Given the description of an element on the screen output the (x, y) to click on. 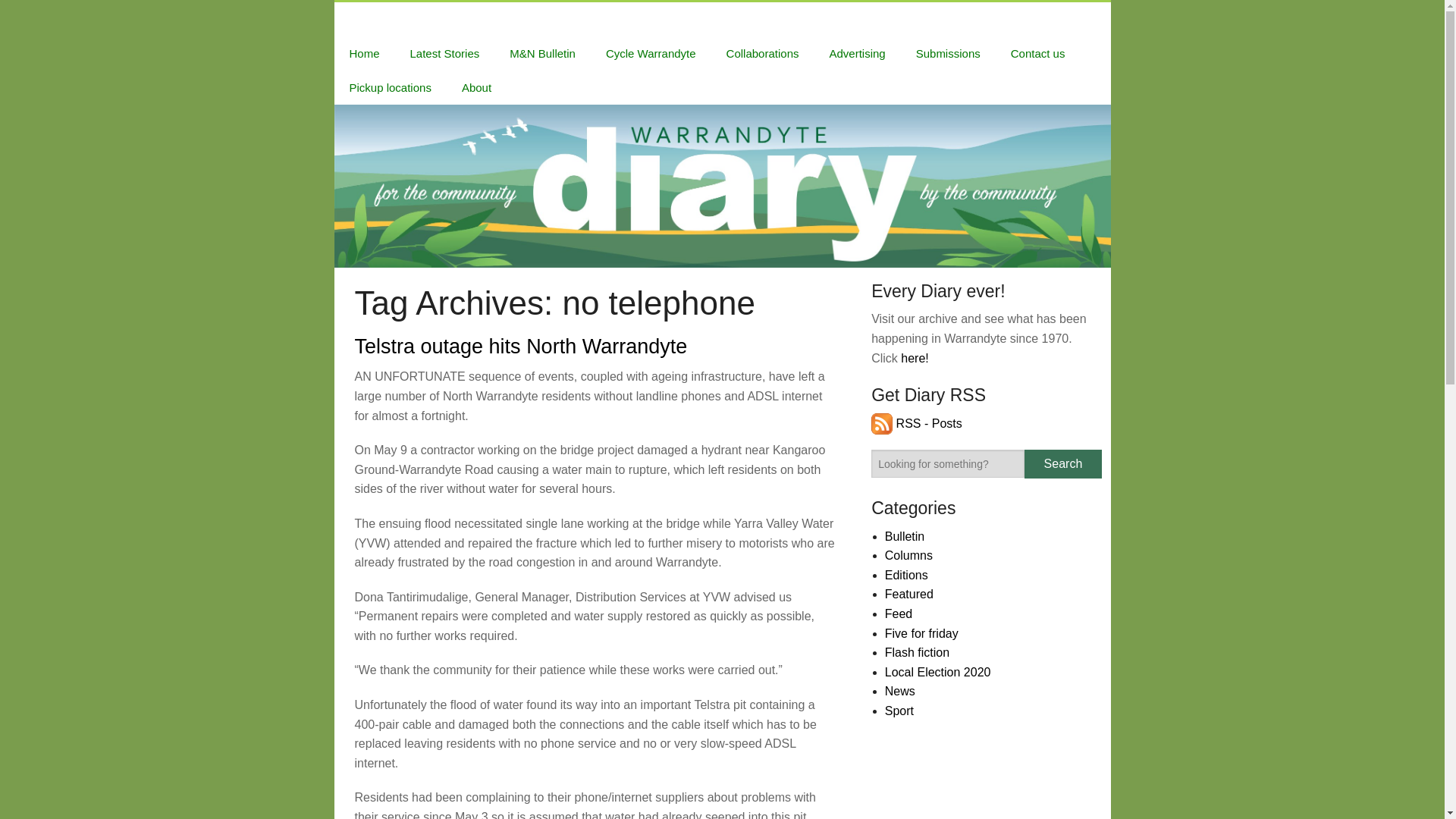
Bulletin (904, 535)
Featured (909, 594)
Sport (899, 710)
Search (1062, 463)
Advertising (856, 53)
Columns (909, 554)
Submissions (947, 53)
Local Election 2020 (938, 671)
 RSS - Posts (916, 422)
Pickup locations (389, 87)
Search (1062, 463)
Warrandyte Diary (398, 19)
Cycle Warrandyte (650, 53)
Contact us (1037, 53)
Five for friday (921, 633)
